Given the description of an element on the screen output the (x, y) to click on. 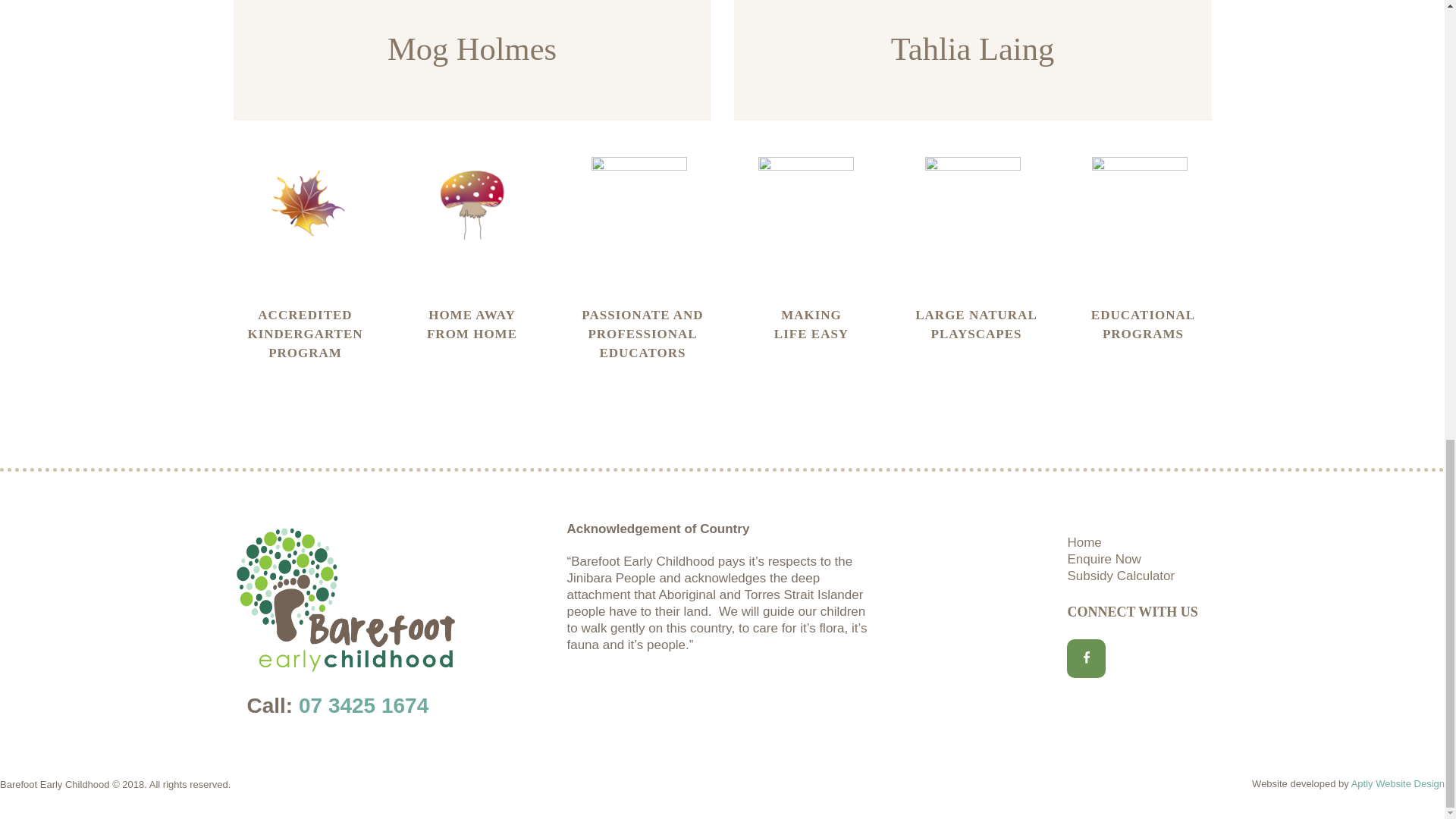
Mog Holmes (471, 49)
Home (1083, 542)
EDUCATIONAL PROGRAMS (1143, 324)
Home Away From Home (472, 324)
PASSIONATE AND PROFESSIONAL EDUCATORS (643, 333)
LARGE NATURAL PLAYSCAPES (976, 324)
MAKING LIFE EASY (811, 324)
HOME AWAY FROM HOME (472, 324)
Educational Programs (1143, 324)
Barefoot Early Childhood Logo FINAL - modify-01 (346, 530)
Tahlia Laing (972, 49)
ACCREDITED KINDERGARTEN PROGRAM (304, 333)
Large Natural Playscapes (976, 324)
Passionate and Professional Educators (643, 333)
Accredited Kindergarten Program (304, 333)
